Given the description of an element on the screen output the (x, y) to click on. 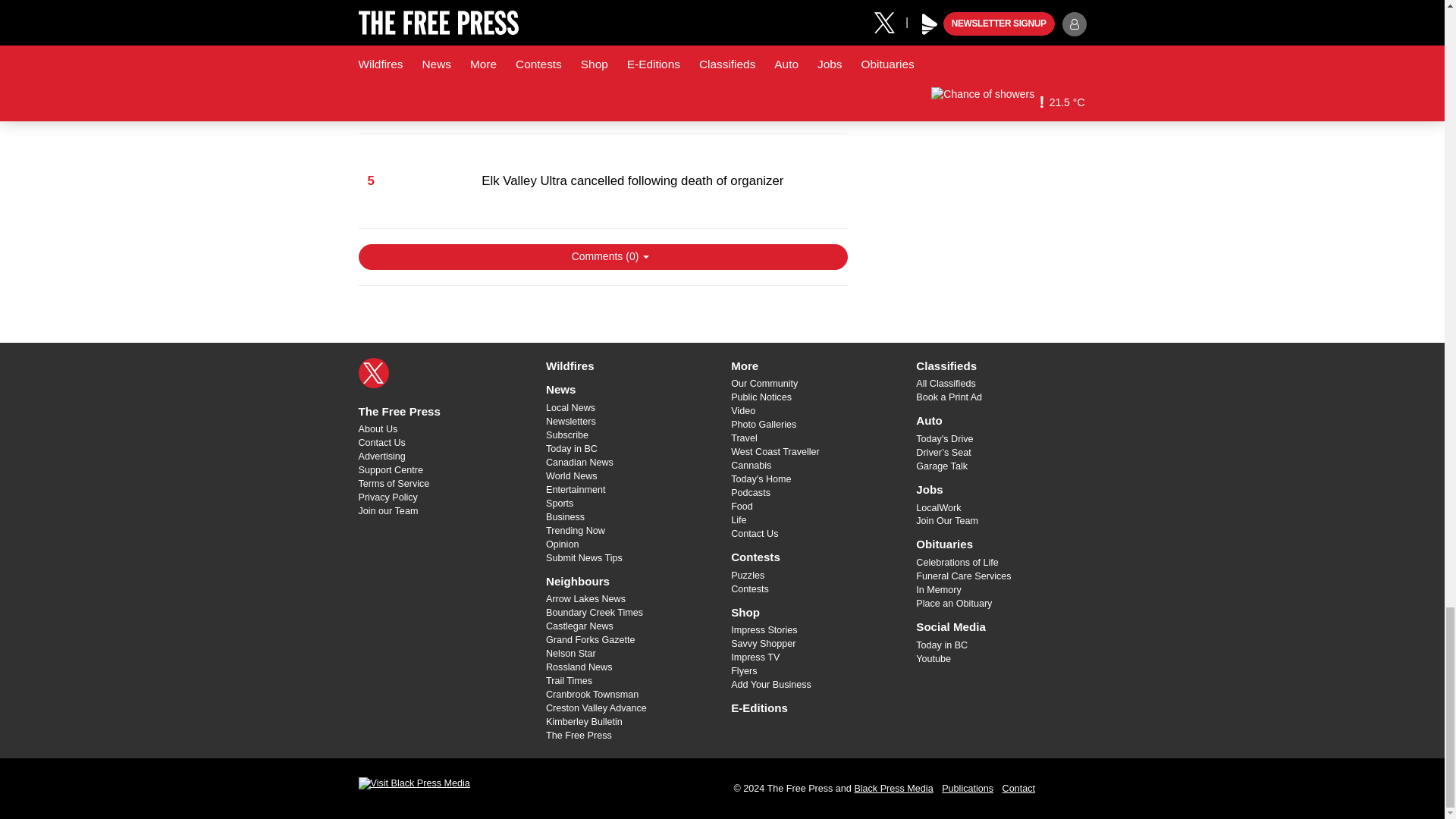
Show Comments (602, 257)
X (373, 372)
